Given the description of an element on the screen output the (x, y) to click on. 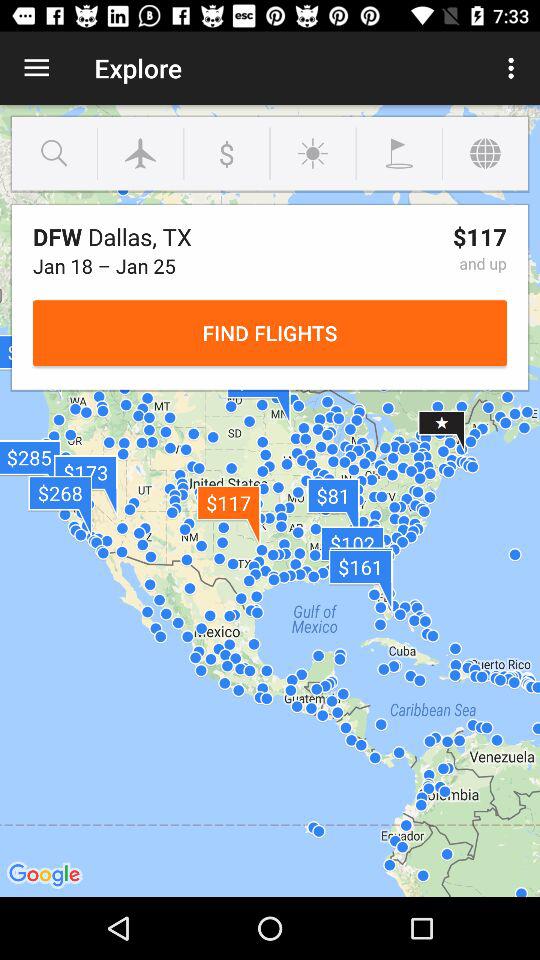
scroll to the find flights item (270, 332)
